Given the description of an element on the screen output the (x, y) to click on. 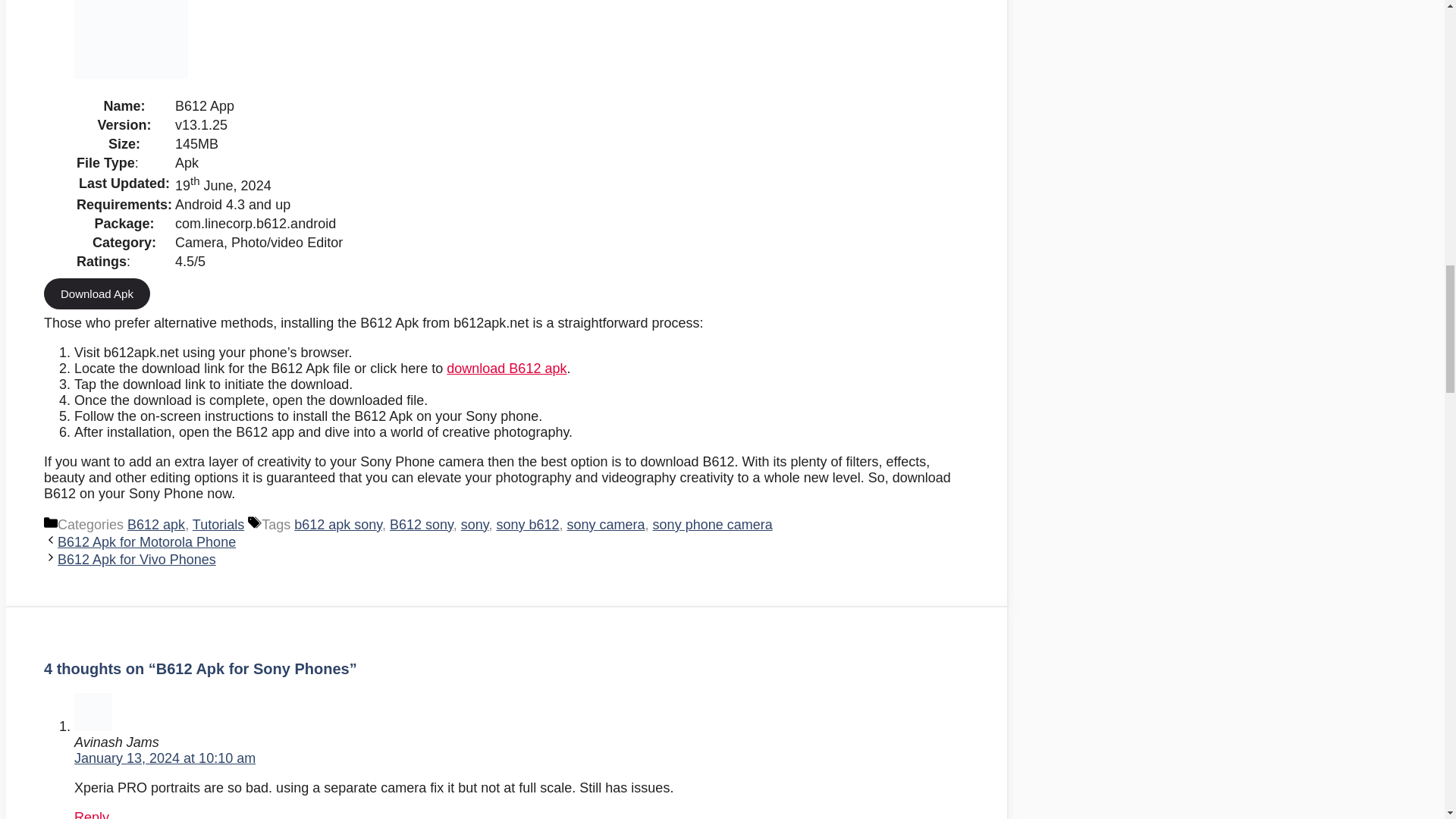
sony b612 (527, 524)
B612 Apk for Motorola Phone (146, 541)
B612 sony (421, 524)
sony (475, 524)
Reply (91, 814)
January 13, 2024 at 10:10 am (165, 758)
Download Apk (96, 293)
sony camera (606, 524)
b612 apk sony (337, 524)
B612 Apk for Vivo Phones (136, 559)
B612 apk (156, 524)
sony phone camera (712, 524)
Tutorials (218, 524)
download B612 apk (506, 368)
